Given the description of an element on the screen output the (x, y) to click on. 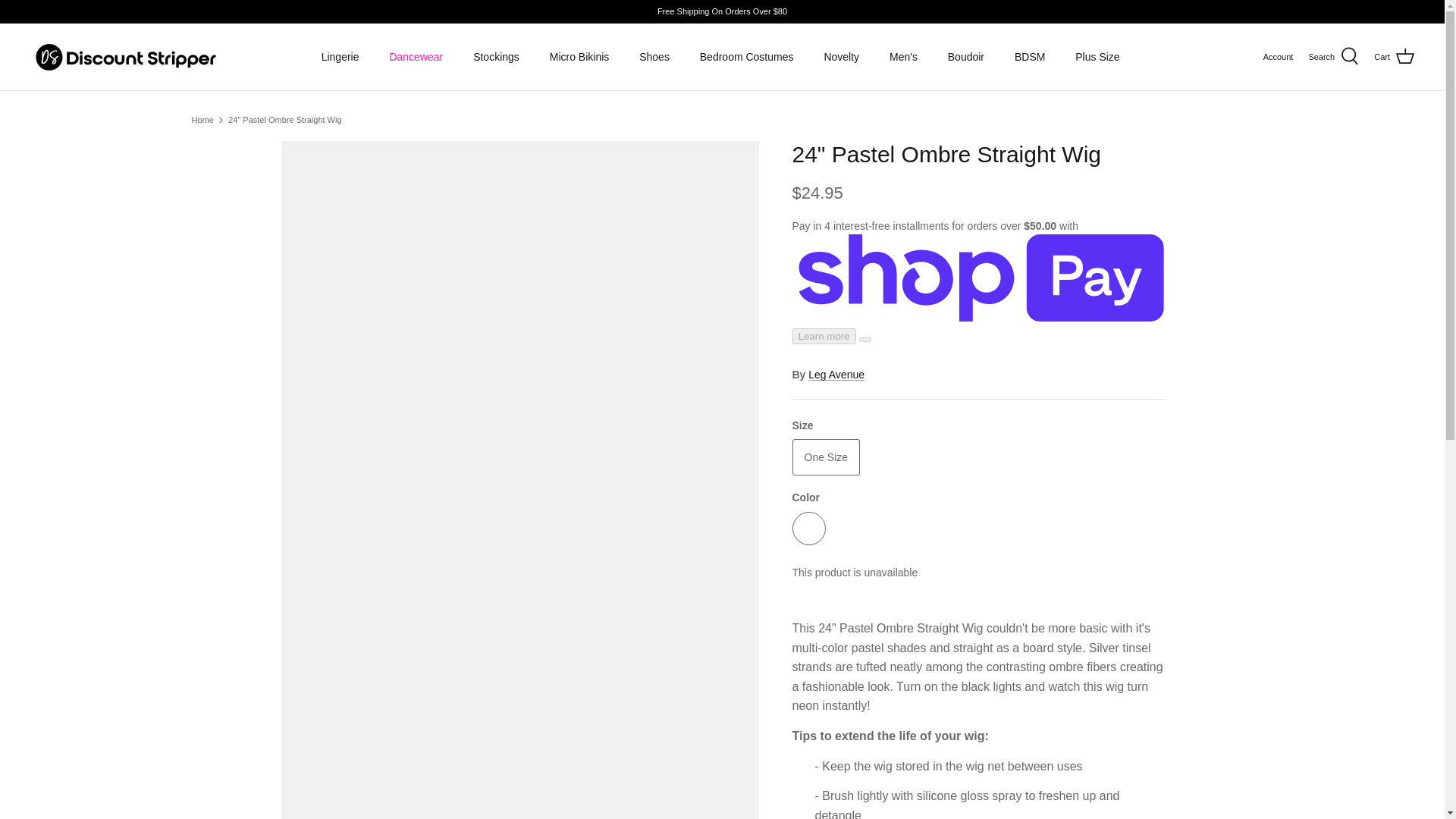
Account (1278, 57)
Cart (1393, 56)
Search (1332, 56)
Shoes (654, 56)
Men's (903, 56)
BDSM (1029, 56)
Micro Bikinis (579, 56)
Lingerie (339, 56)
Dancewear (416, 56)
Plus Size (1096, 56)
Bedroom Costumes (746, 56)
Stockings (496, 56)
Boudoir (965, 56)
Novelty (840, 56)
